Given the description of an element on the screen output the (x, y) to click on. 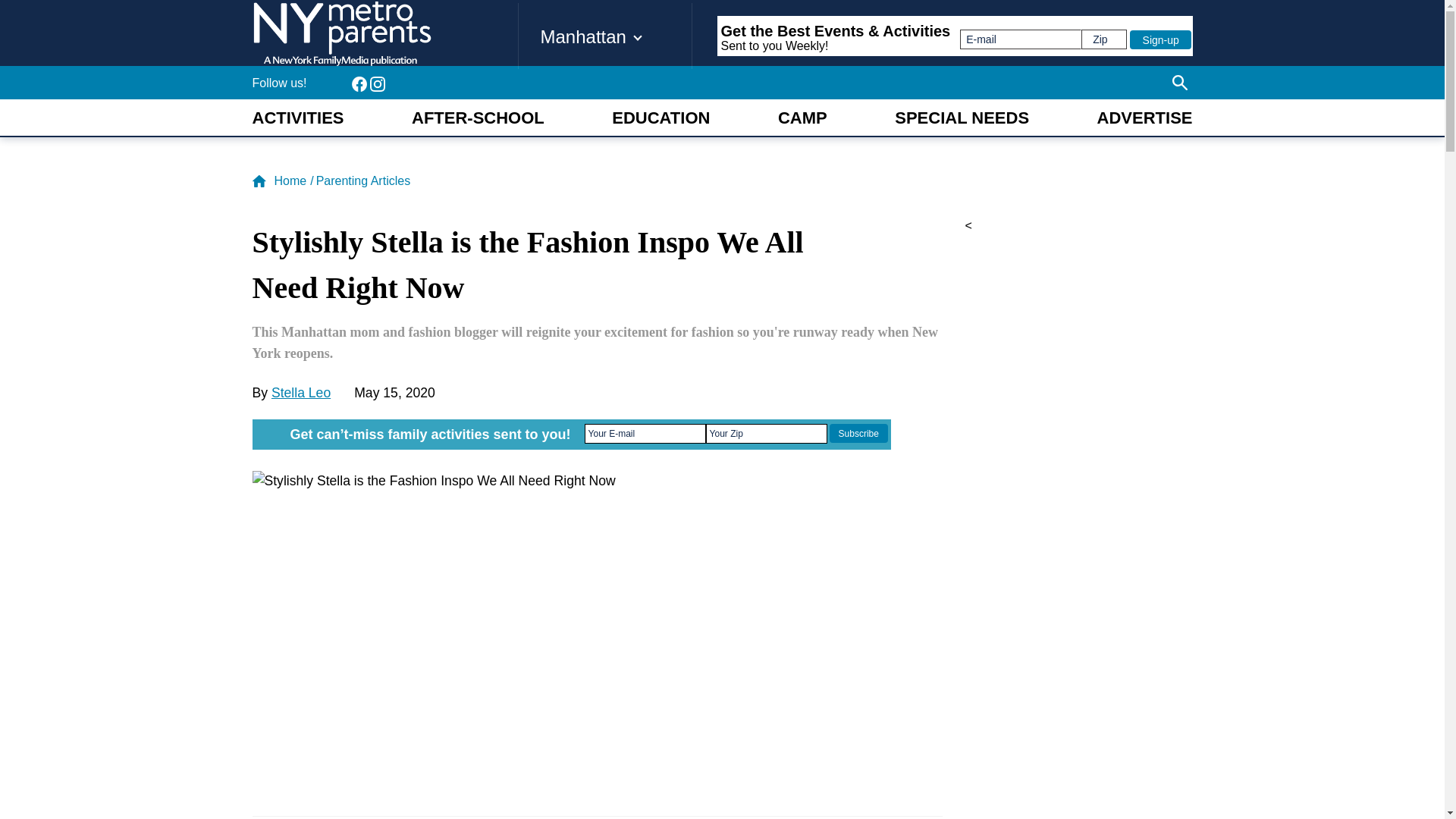
CAMP (802, 118)
ACTIVITIES (297, 118)
EDUCATION (660, 118)
Sign-up (1160, 39)
AFTER-SCHOOL (478, 118)
